Given the description of an element on the screen output the (x, y) to click on. 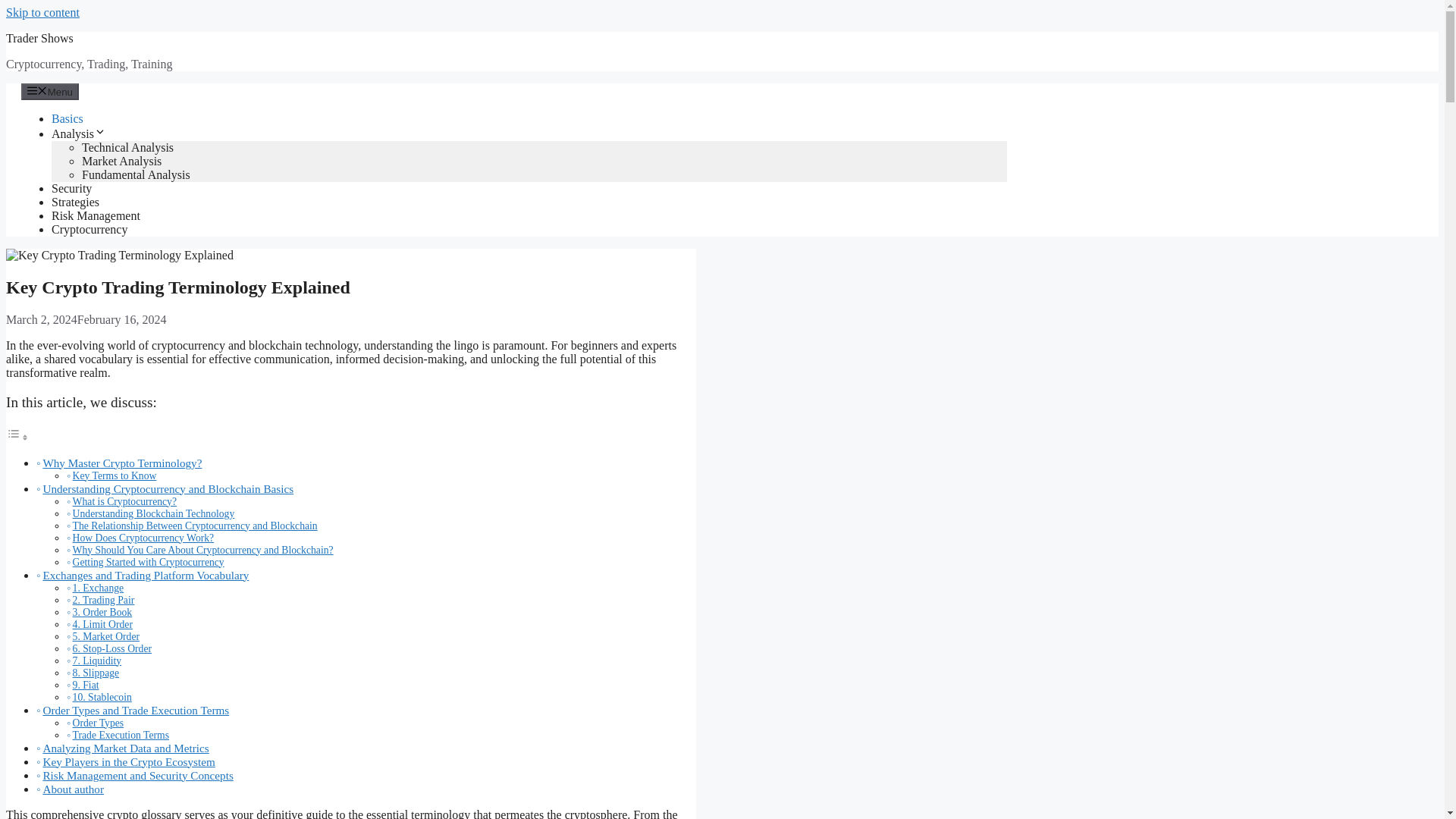
The Relationship Between Cryptocurrency and Blockchain (194, 525)
Key Terms to Know (114, 475)
Analyzing Market Data and Metrics (125, 748)
Menu (49, 91)
Order Types and Trade Execution Terms (135, 709)
Skip to content (42, 11)
Why Master Crypto Terminology? (122, 462)
Getting Started with Cryptocurrency (148, 562)
Exchanges and Trading Platform Vocabulary (145, 574)
Risk Management (94, 215)
